Given the description of an element on the screen output the (x, y) to click on. 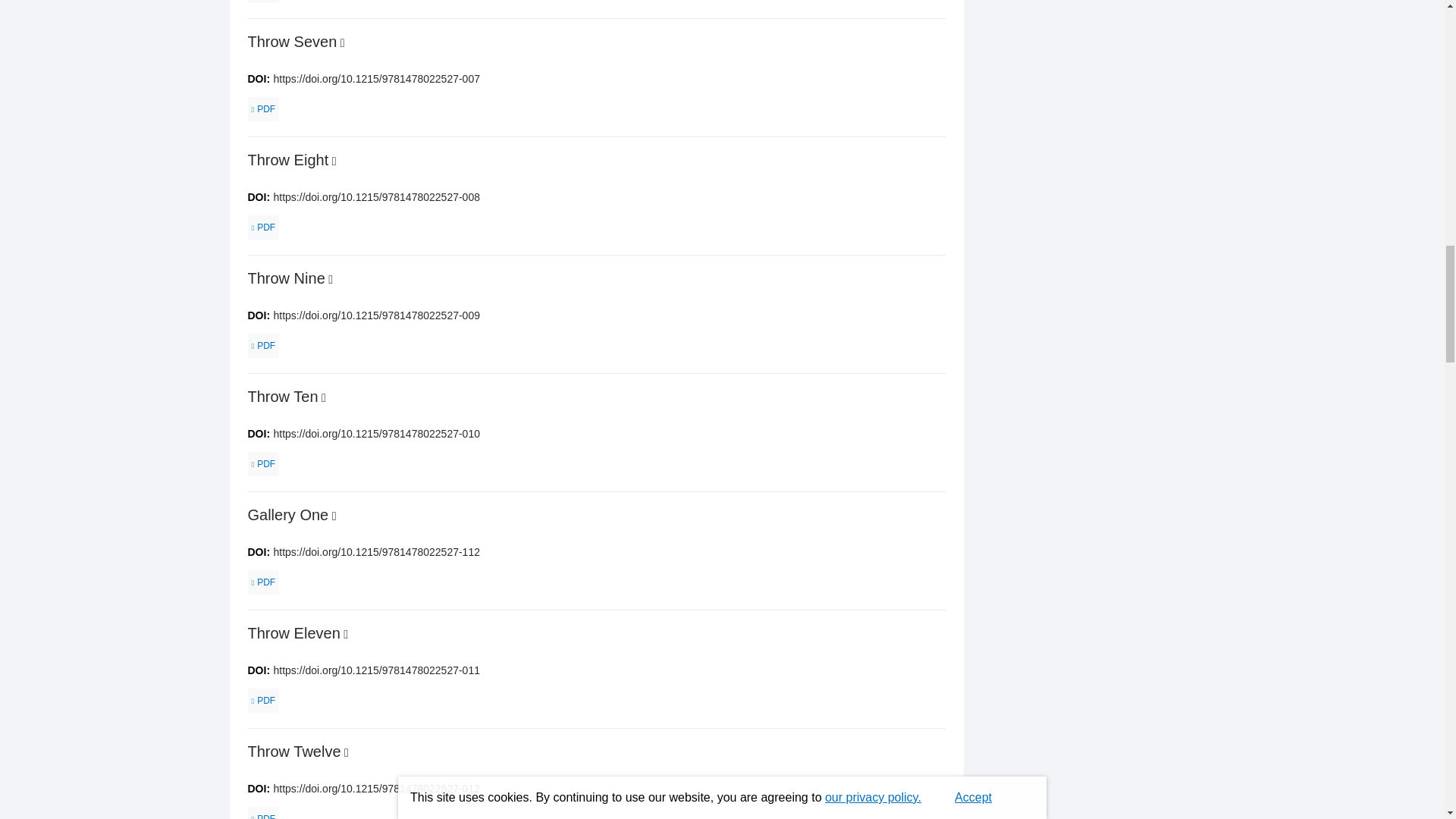
Available to Purchase (331, 278)
Available to Purchase (346, 752)
Available to Purchase (345, 634)
Available to Purchase (342, 42)
Available to Purchase (333, 515)
Available to Purchase (323, 397)
Available to Purchase (333, 160)
